Given the description of an element on the screen output the (x, y) to click on. 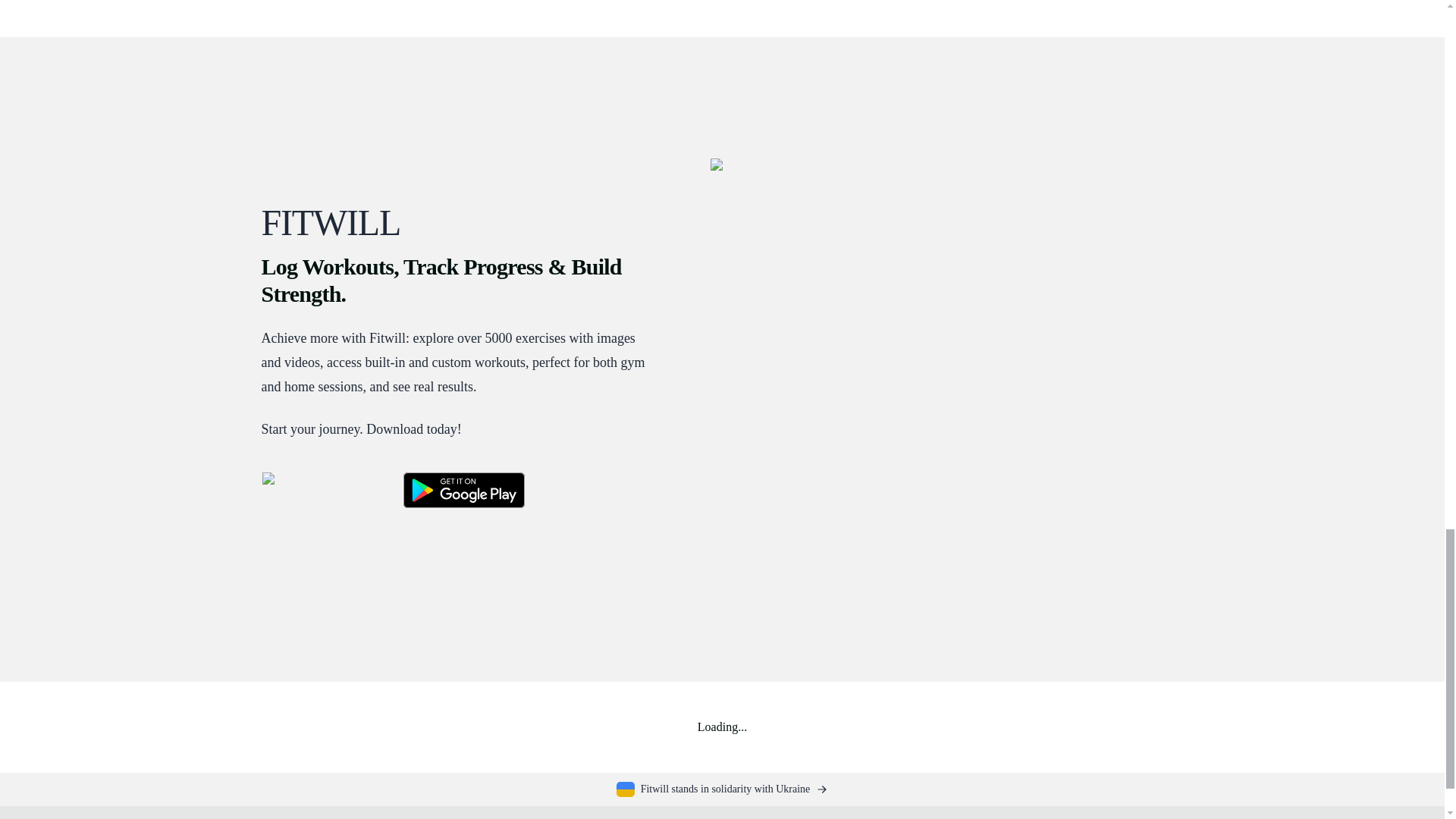
Download Fitwill on the App Store (322, 492)
Fitwill stands in solidarity with Ukraine (721, 789)
Get Fitwill on Google Play (462, 489)
Support Ukraine (721, 789)
